Given the description of an element on the screen output the (x, y) to click on. 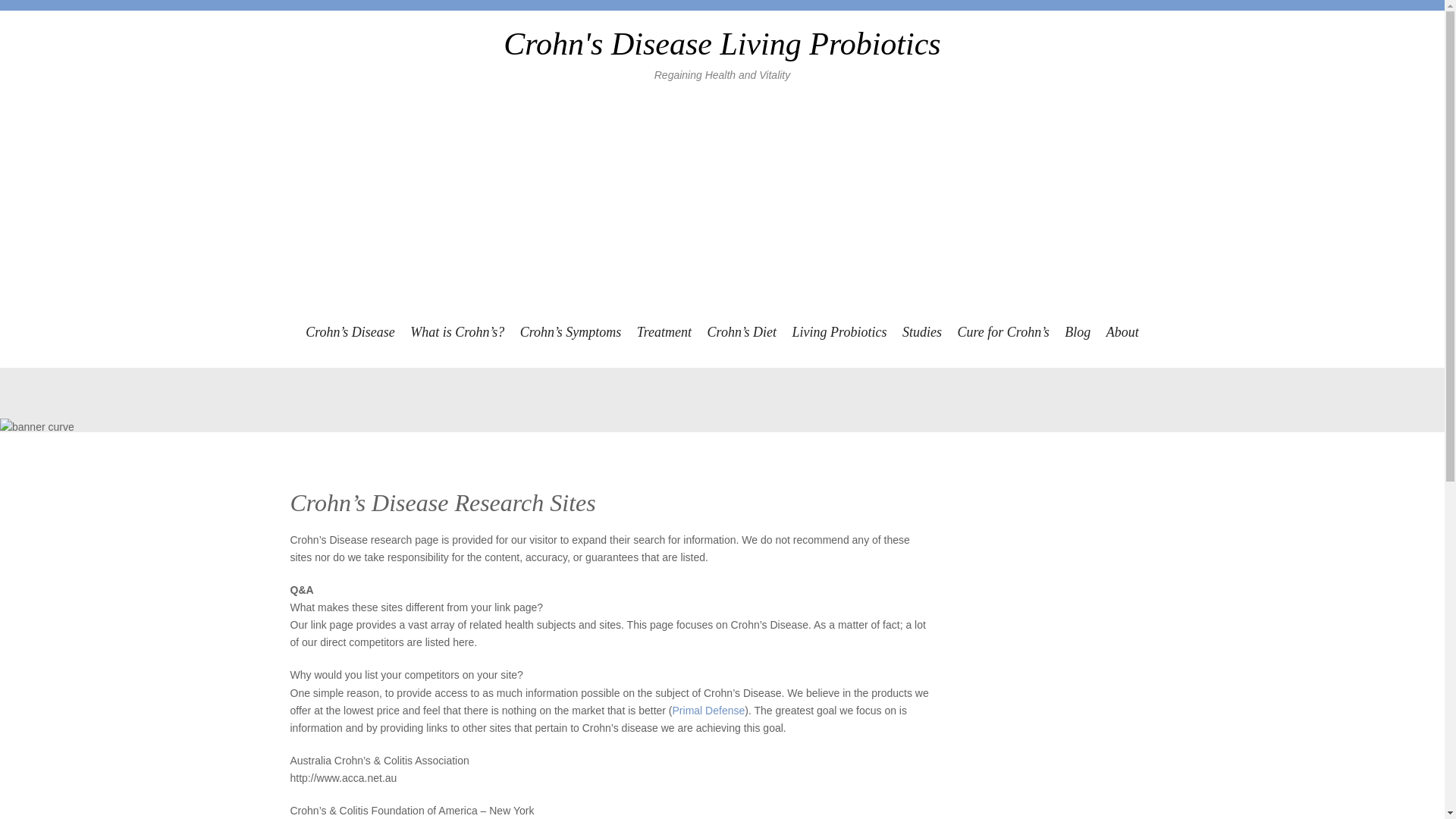
Crohn's Disease Living Probiotics (721, 43)
Blog (1077, 331)
Primal Defense (708, 710)
Studies (921, 331)
Treatment (663, 331)
Living Probiotics (839, 331)
About (1122, 331)
